Given the description of an element on the screen output the (x, y) to click on. 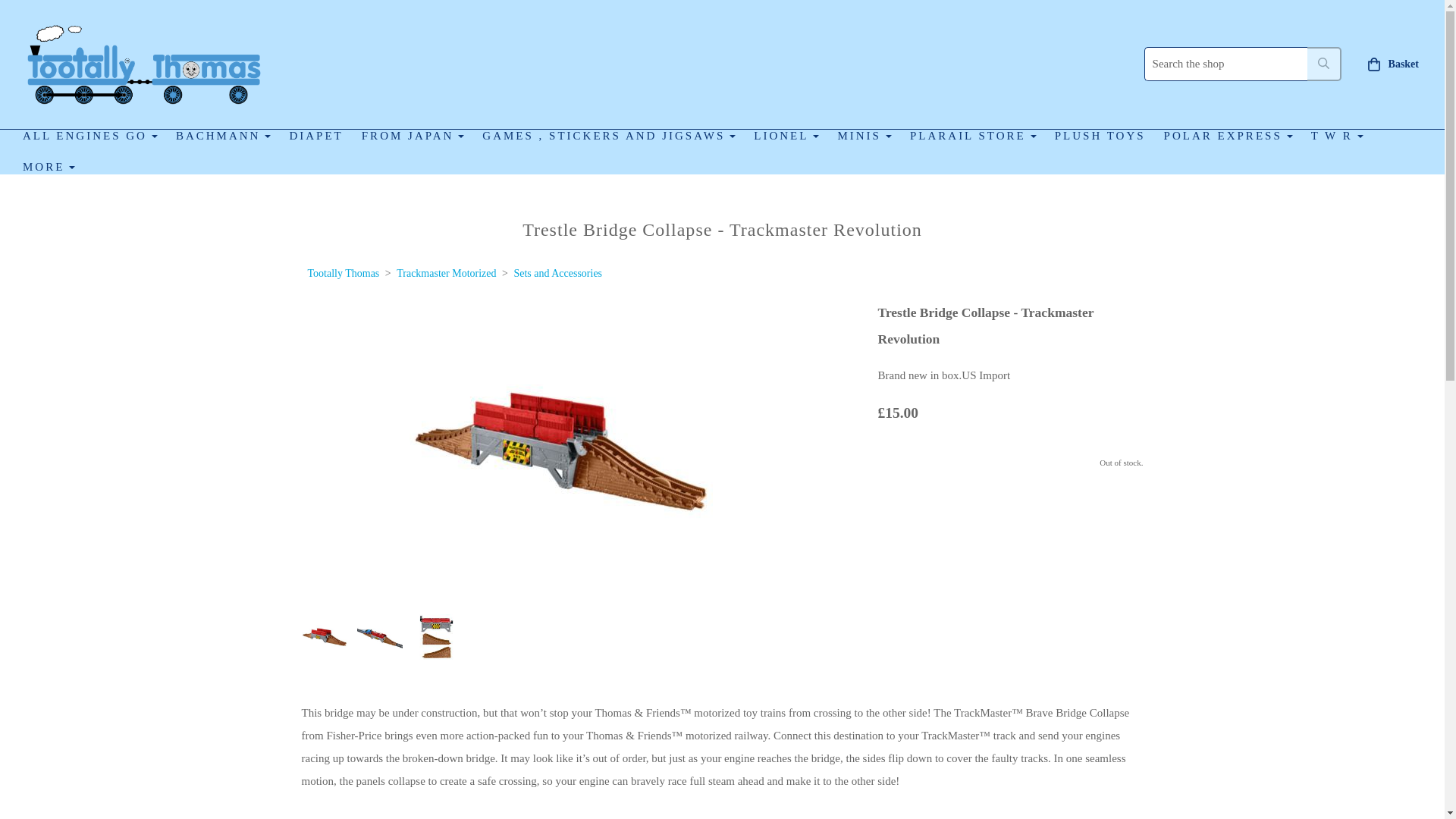
BACHMANN (224, 135)
ALL ENGINES GO (90, 135)
Basket (1393, 64)
